Given the description of an element on the screen output the (x, y) to click on. 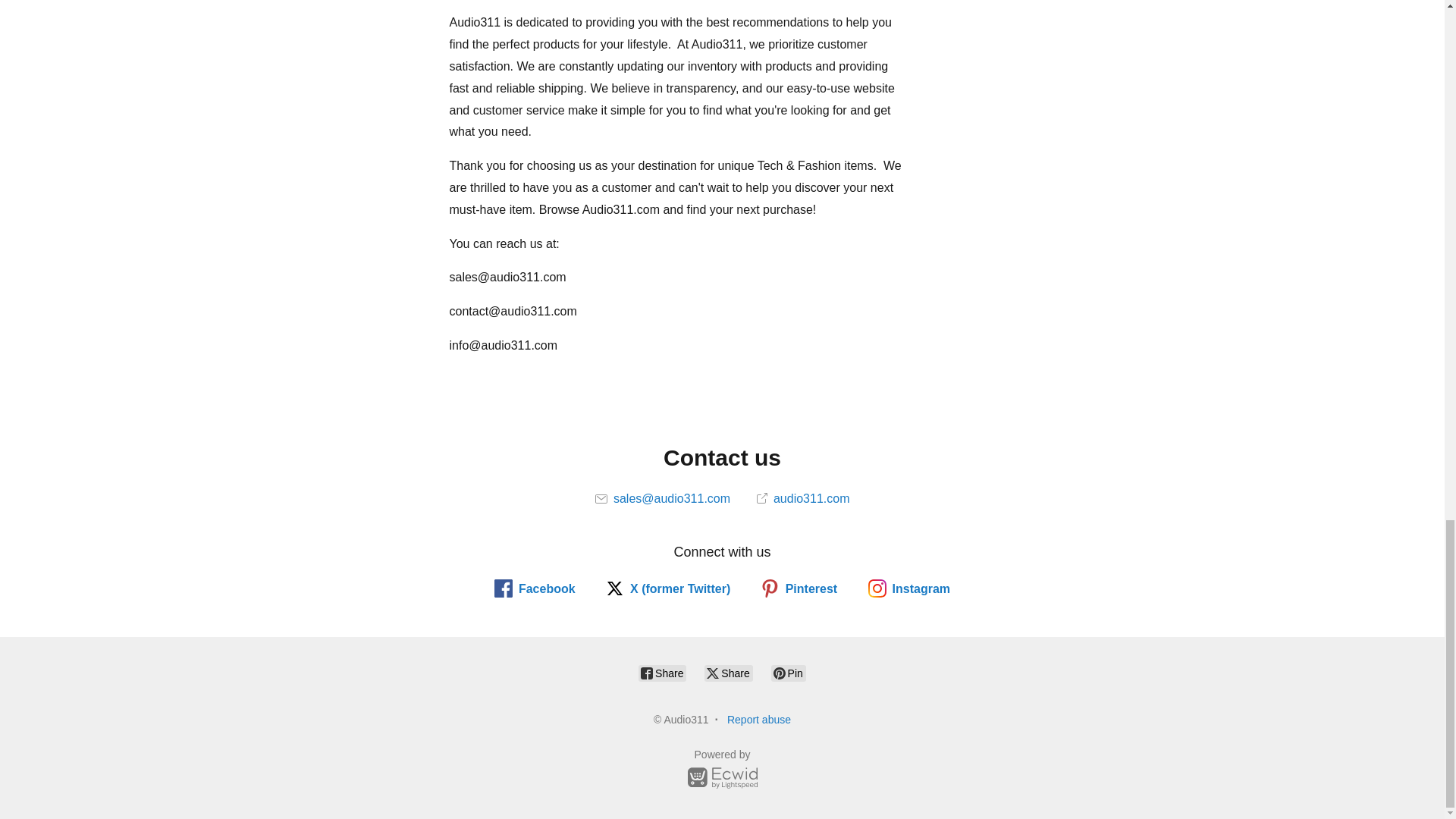
Pin (788, 673)
Share (728, 673)
Powered by (722, 771)
Pinterest (799, 588)
Report abuse (758, 719)
Share (662, 673)
audio311.com (803, 498)
Facebook (535, 588)
Instagram (908, 588)
